Given the description of an element on the screen output the (x, y) to click on. 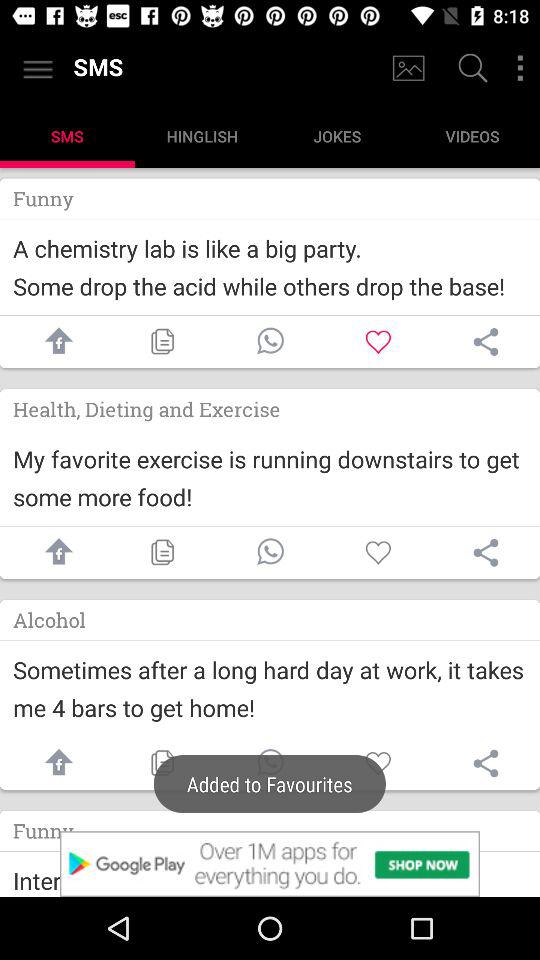
share the article (486, 552)
